Given the description of an element on the screen output the (x, y) to click on. 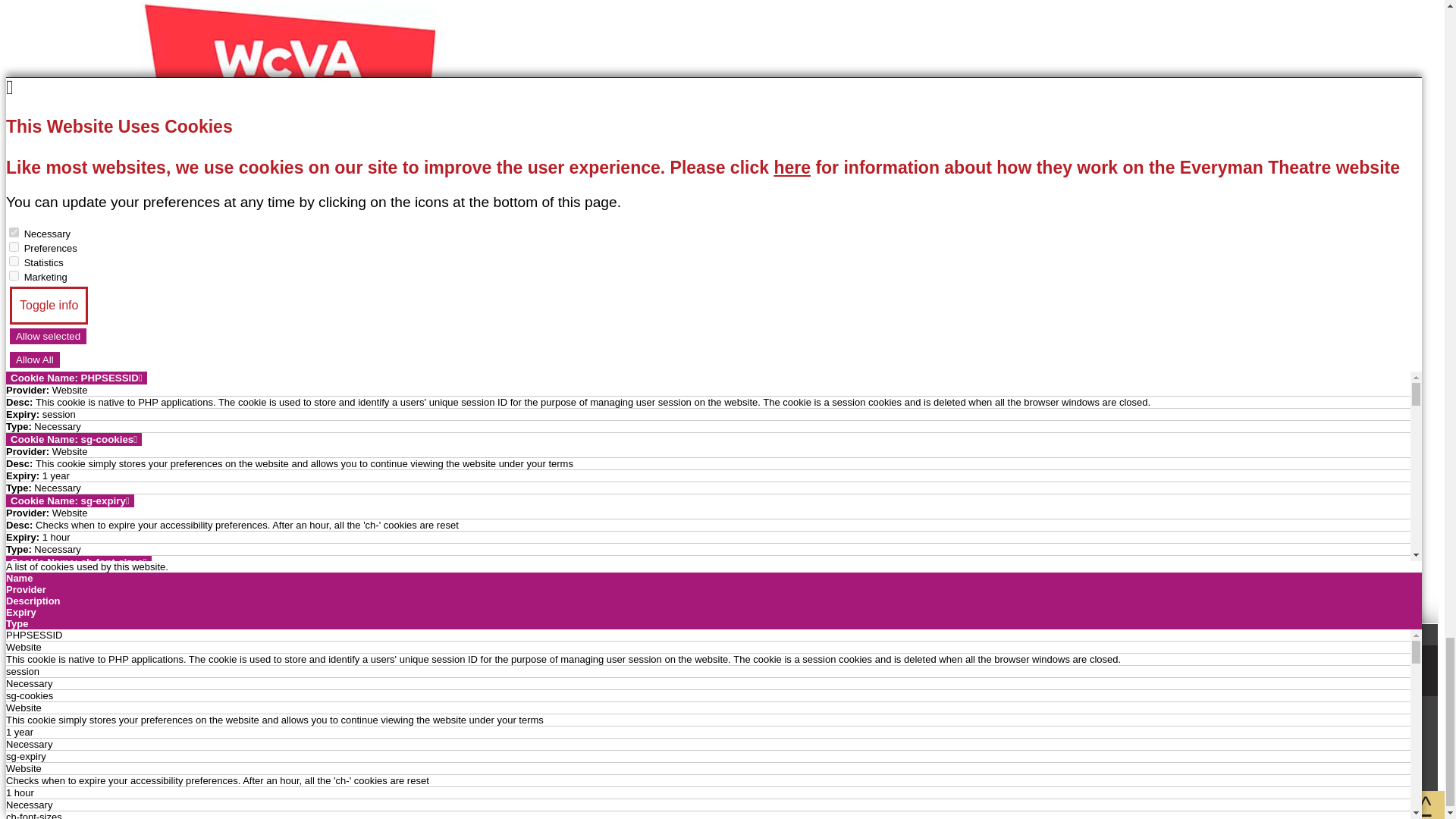
0333 666 3366 (721, 529)
Smaller Text (54, 770)
Privacy Policy (54, 397)
Cookies (33, 422)
Larger Text (247, 770)
High Contrast (152, 770)
Contact Us (346, 770)
